Given the description of an element on the screen output the (x, y) to click on. 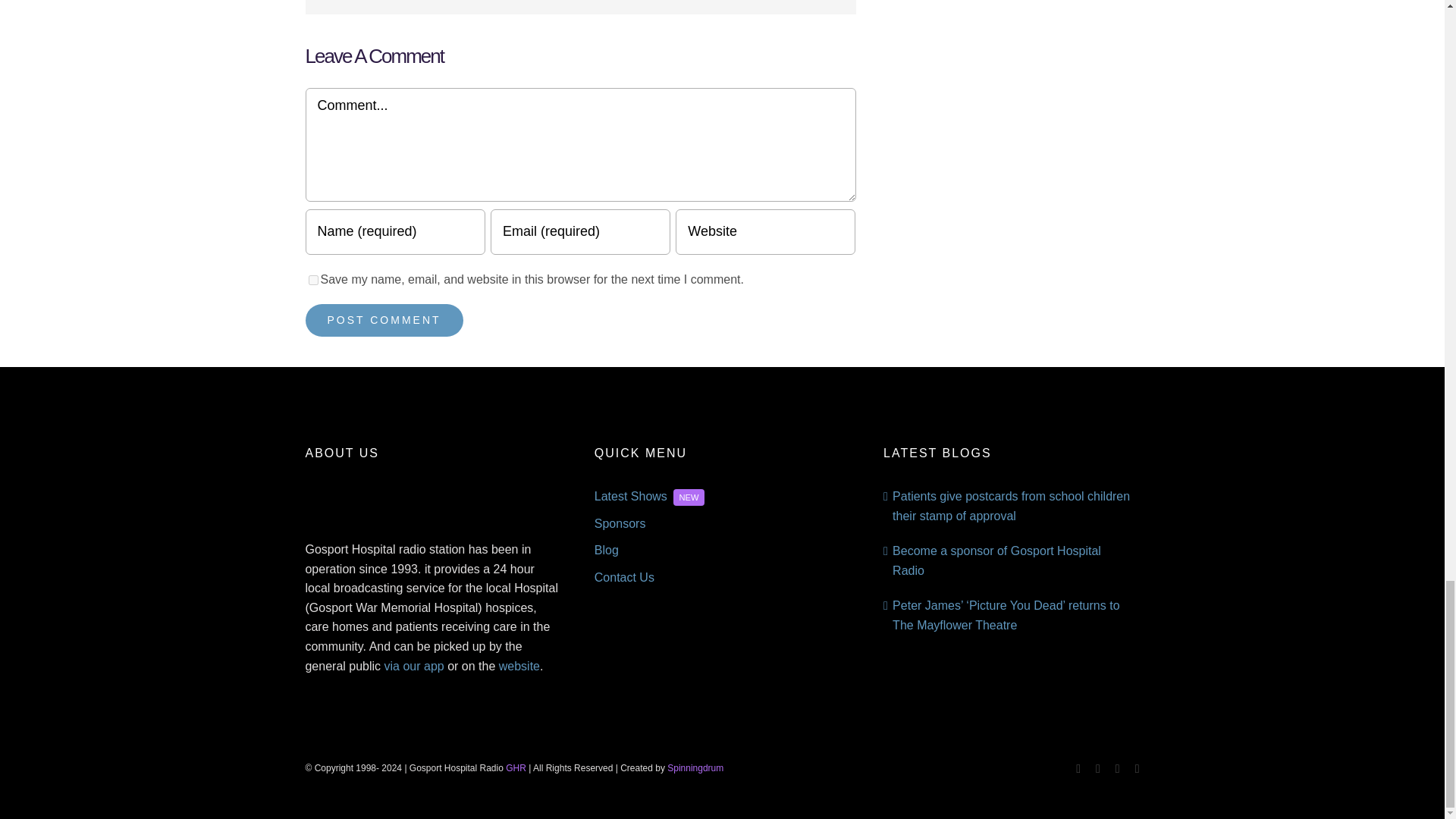
Post Comment (383, 319)
Blog (722, 550)
website (519, 666)
Sponsors (722, 523)
via our app (414, 666)
Latest ShowsNEW (722, 496)
yes (312, 280)
Become a sponsor of Gosport Hospital Radio (996, 560)
Post Comment (383, 319)
